Given the description of an element on the screen output the (x, y) to click on. 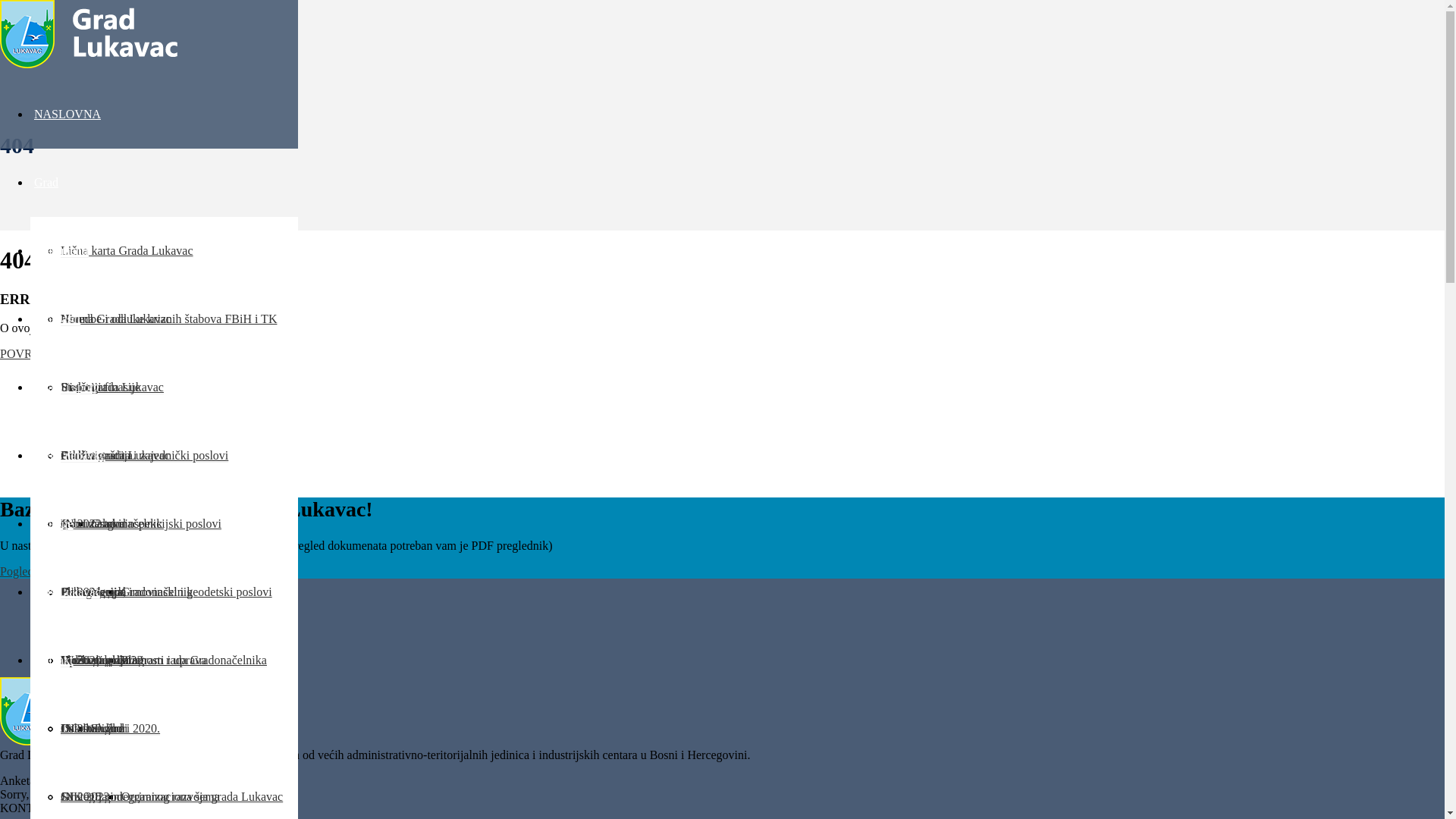
Grad Element type: text (46, 182)
Ostalo Element type: text (76, 728)
Himna Grada Lukavac Element type: text (115, 319)
Video galerija Element type: text (94, 660)
Javne nabavke Element type: text (69, 455)
ISO standardi Element type: text (93, 728)
Strategija integriranog razvoja grada Lukavac Element type: text (171, 796)
JN 2021. god Element type: text (92, 592)
Plaketa grada Element type: text (93, 592)
Statut grada Lukavac Element type: text (111, 387)
Pogledaj Element type: text (21, 570)
E-obrasci Element type: text (57, 318)
JN 2018.god Element type: text (91, 796)
JN 2022. god Element type: text (92, 523)
JN 2020.god Element type: text (91, 660)
Historijat Element type: text (83, 387)
Urbanizacija, imovinski i geodetski poslovi Element type: text (166, 592)
NASLOVNA Element type: text (67, 114)
Grb i zastava Element type: text (92, 523)
JN 2019.god Element type: text (91, 728)
Foto galerija Element type: text (91, 592)
Lokalni izbori 2020. Element type: text (110, 728)
Dokumenti Element type: text (61, 250)
Administracija Element type: text (96, 455)
POVRATAK NA NASLOVNU Element type: text (76, 353)
GIK 2023 Element type: text (84, 796)
Mladi i sport Element type: text (65, 387)
Galerije Element type: text (53, 523)
GIK Lukavac Element type: text (67, 591)
Komunalni i inspekcijski poslovi Element type: text (140, 523)
Kontakt Element type: text (53, 660)
